Given the description of an element on the screen output the (x, y) to click on. 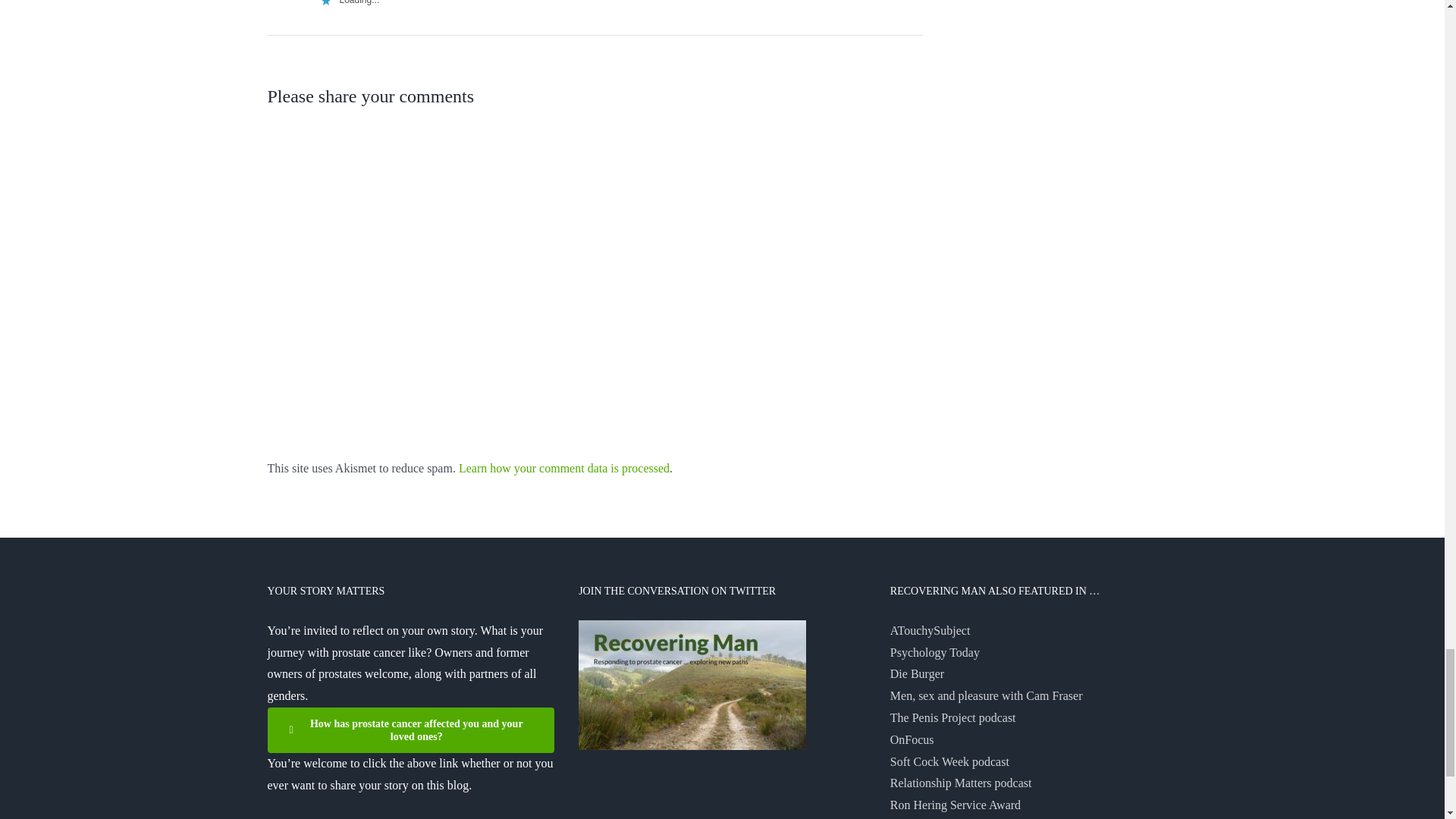
Learn how your comment data is processed (563, 468)
